Given the description of an element on the screen output the (x, y) to click on. 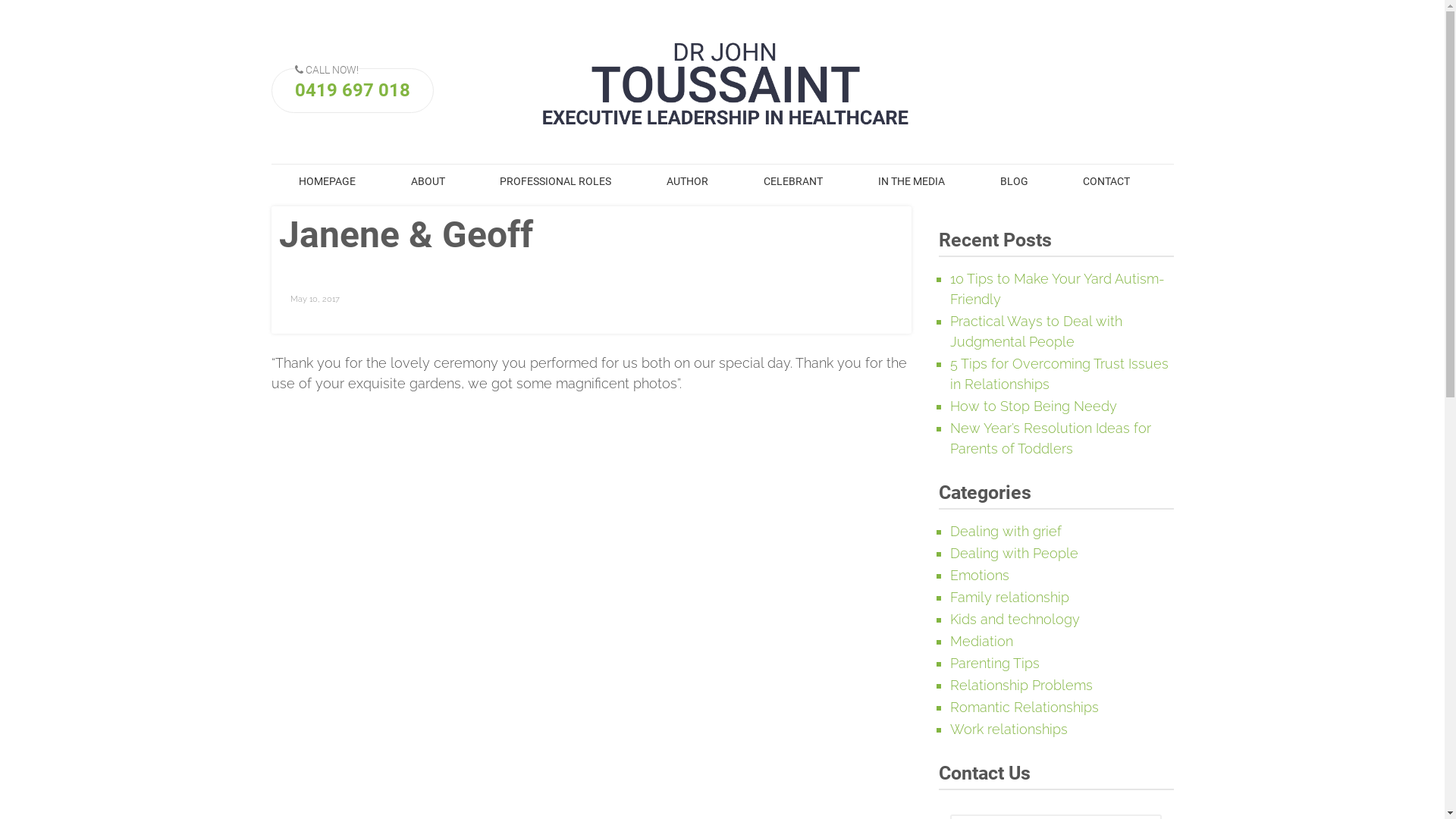
Emotions Element type: text (979, 575)
CELEBRANT Element type: text (793, 181)
How to Stop Being Needy Element type: text (1033, 406)
Mediation Element type: text (981, 641)
Relationship Problems Element type: text (1021, 685)
Practical Ways to Deal with Judgmental People Element type: text (1036, 331)
PROFESSIONAL ROLES Element type: text (555, 181)
Kids and technology Element type: text (1014, 619)
Romantic Relationships Element type: text (1024, 707)
Family relationship Element type: text (1009, 597)
5 Tips for Overcoming Trust Issues in Relationships Element type: text (1059, 373)
0419 697 018 Element type: text (351, 89)
CONTACT Element type: text (1106, 181)
BLOG Element type: text (1013, 181)
AUTHOR Element type: text (687, 181)
10 Tips to Make Your Yard Autism-Friendly Element type: text (1057, 288)
HOMEPAGE Element type: text (327, 181)
Parenting Tips Element type: text (994, 663)
Work relationships Element type: text (1008, 729)
IN THE MEDIA Element type: text (911, 181)
ABOUT Element type: text (427, 181)
Dealing with People Element type: text (1014, 553)
Dealing with grief Element type: text (1005, 531)
